Given the description of an element on the screen output the (x, y) to click on. 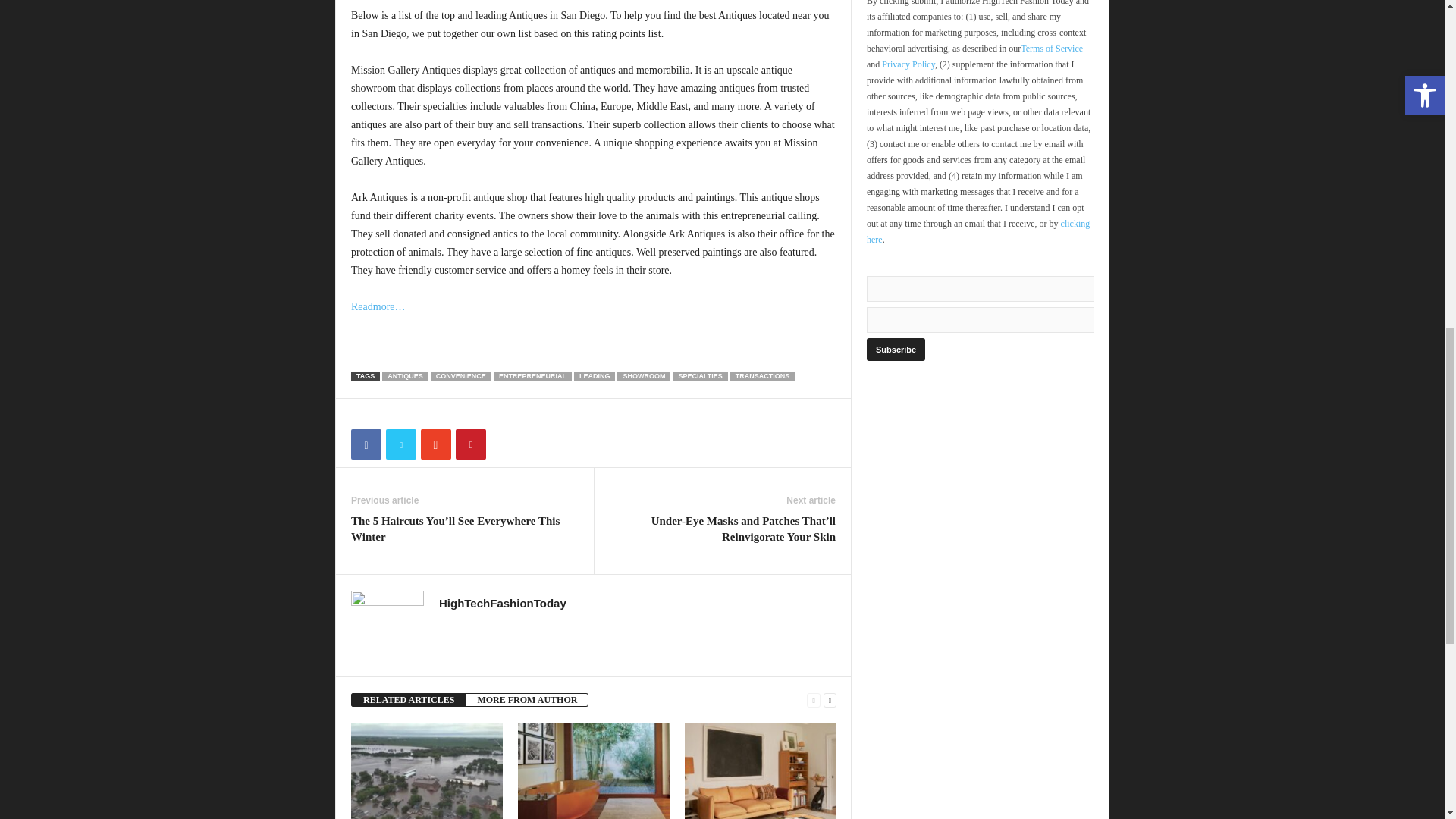
Subscribe (895, 349)
